Given the description of an element on the screen output the (x, y) to click on. 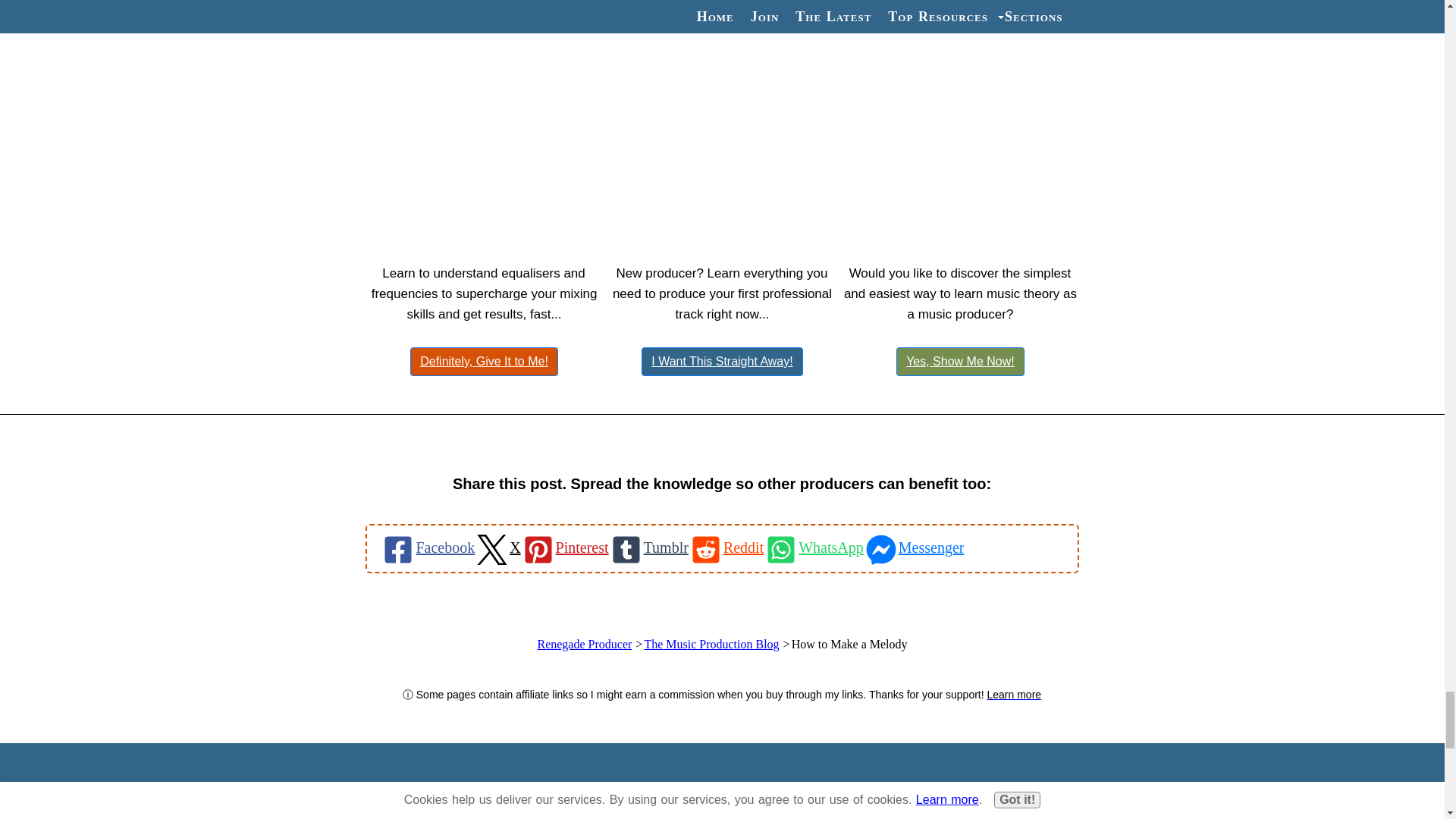
X (496, 548)
The Music Production Blog (710, 644)
I Want This Straight Away! (722, 361)
Reddit (725, 548)
Learn more (1014, 693)
Definitely, Give It to Me! (483, 361)
Facebook (427, 548)
Tumblr (648, 548)
WhatsApp (812, 548)
Yes, Show Me Now! (960, 361)
Pinterest (564, 548)
Messenger (913, 548)
